Given the description of an element on the screen output the (x, y) to click on. 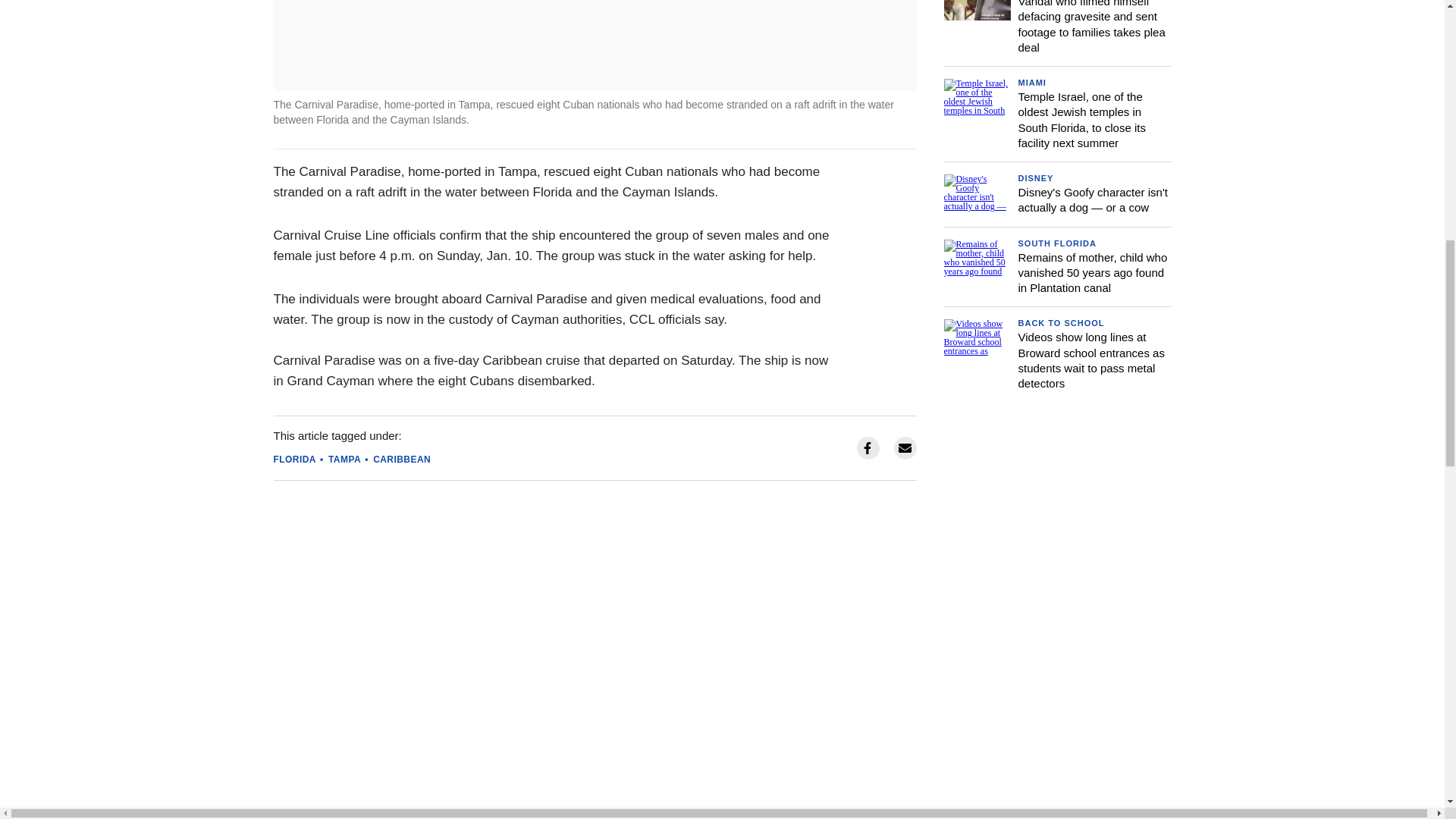
FLORIDA (294, 459)
CARIBBEAN (401, 459)
TAMPA (345, 459)
